Given the description of an element on the screen output the (x, y) to click on. 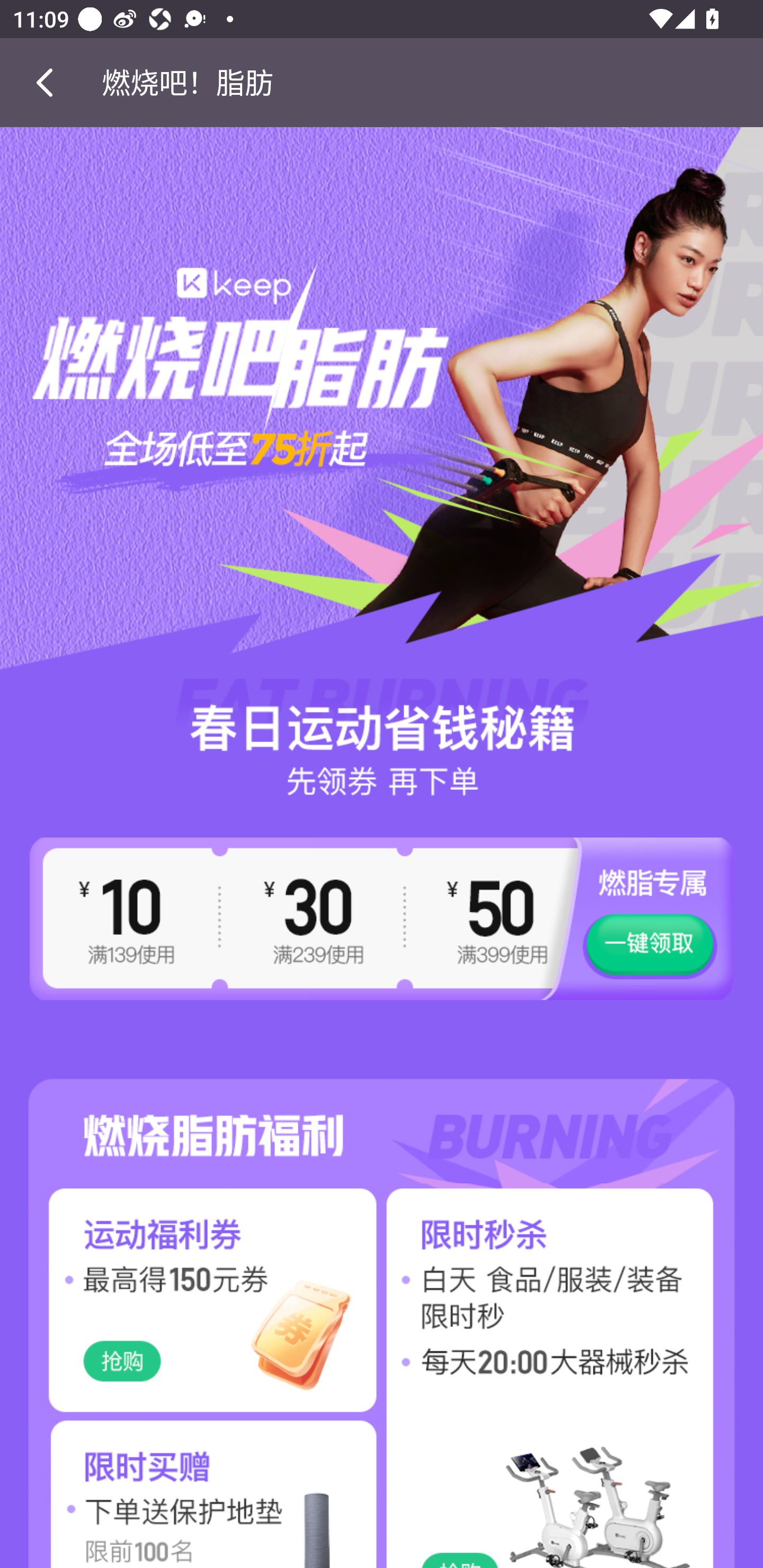
Left Button In Title Bar (50, 82)
1709893533071_750x660 (381, 462)
1709893588149_750x143 (381, 1111)
1709893556585_375x231 (190, 1300)
1709893559719_375x231 (572, 1300)
1709893563559_375x239 (190, 1491)
1709894012951_375x239 (572, 1491)
